Given the description of an element on the screen output the (x, y) to click on. 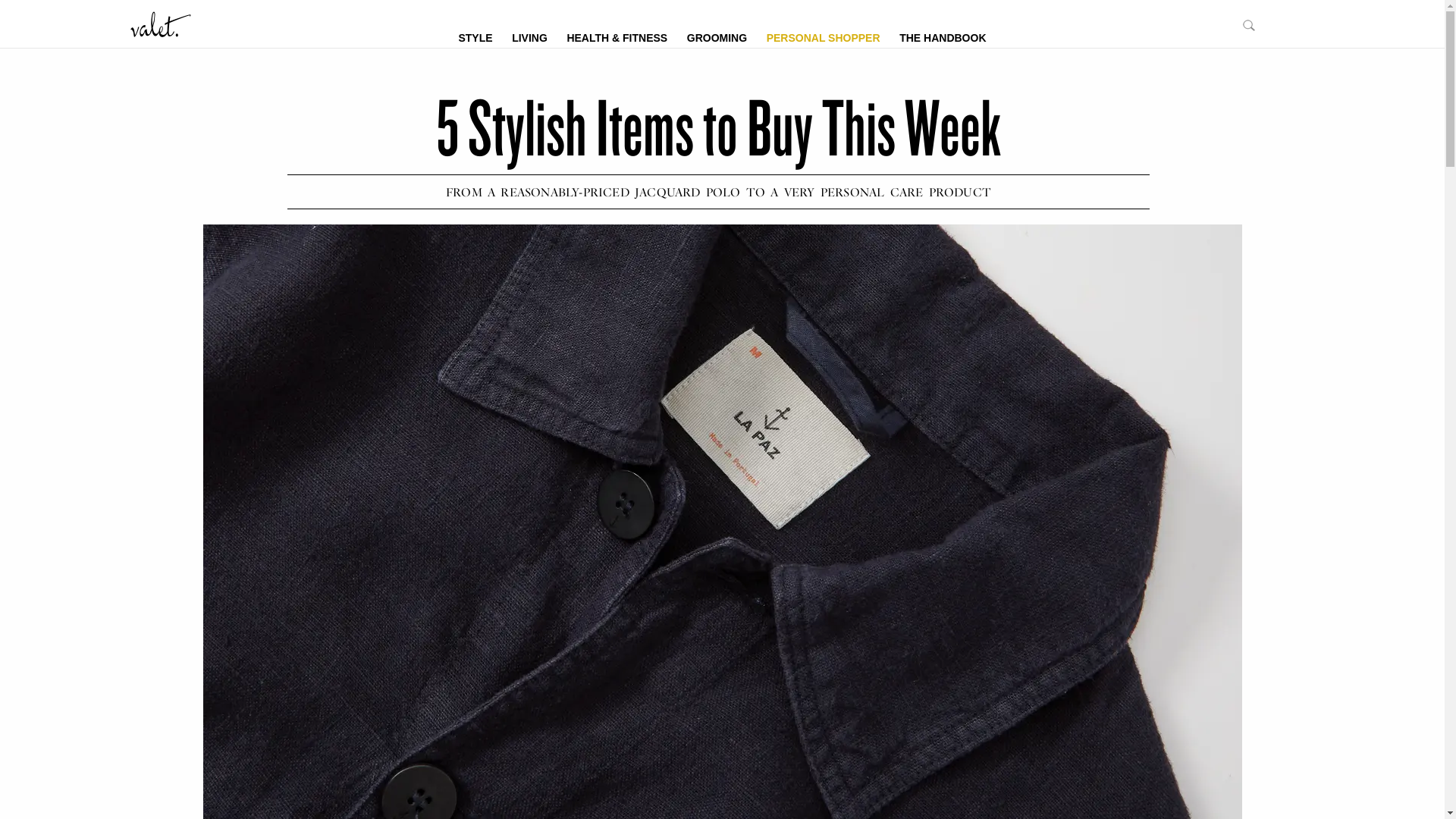
Valet. living section (529, 35)
Valet. handbook section (942, 35)
GROOMING (717, 35)
PERSONAL SHOPPER (823, 35)
Valet. style section (475, 35)
THE HANDBOOK (942, 35)
STYLE (475, 35)
Valet. homepage (160, 22)
Valet. health and fitness section (617, 35)
Valet. grooming section (717, 35)
